Given the description of an element on the screen output the (x, y) to click on. 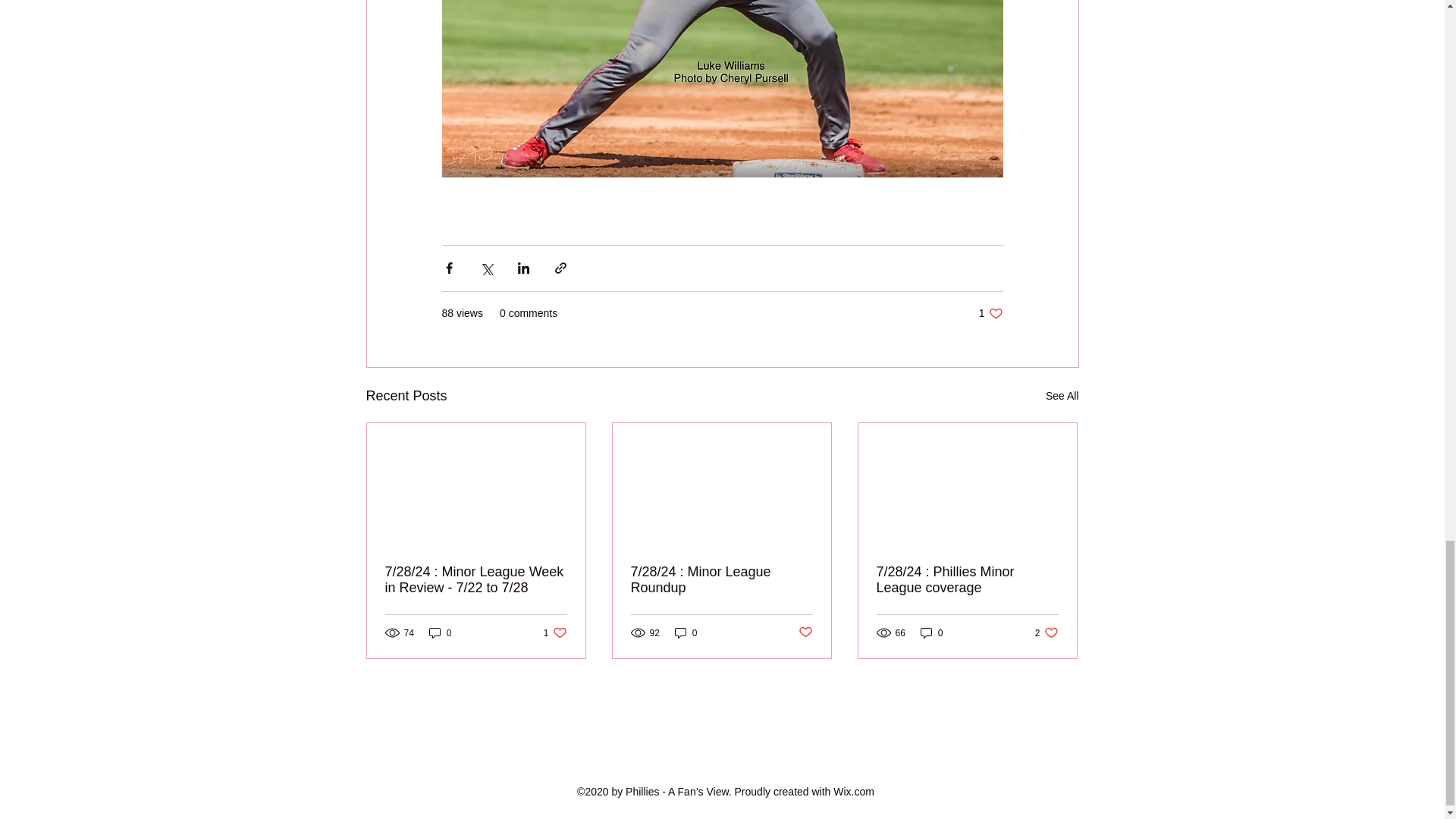
0 (555, 632)
0 (990, 313)
Post not marked as liked (440, 632)
0 (1046, 632)
See All (931, 632)
